Given the description of an element on the screen output the (x, y) to click on. 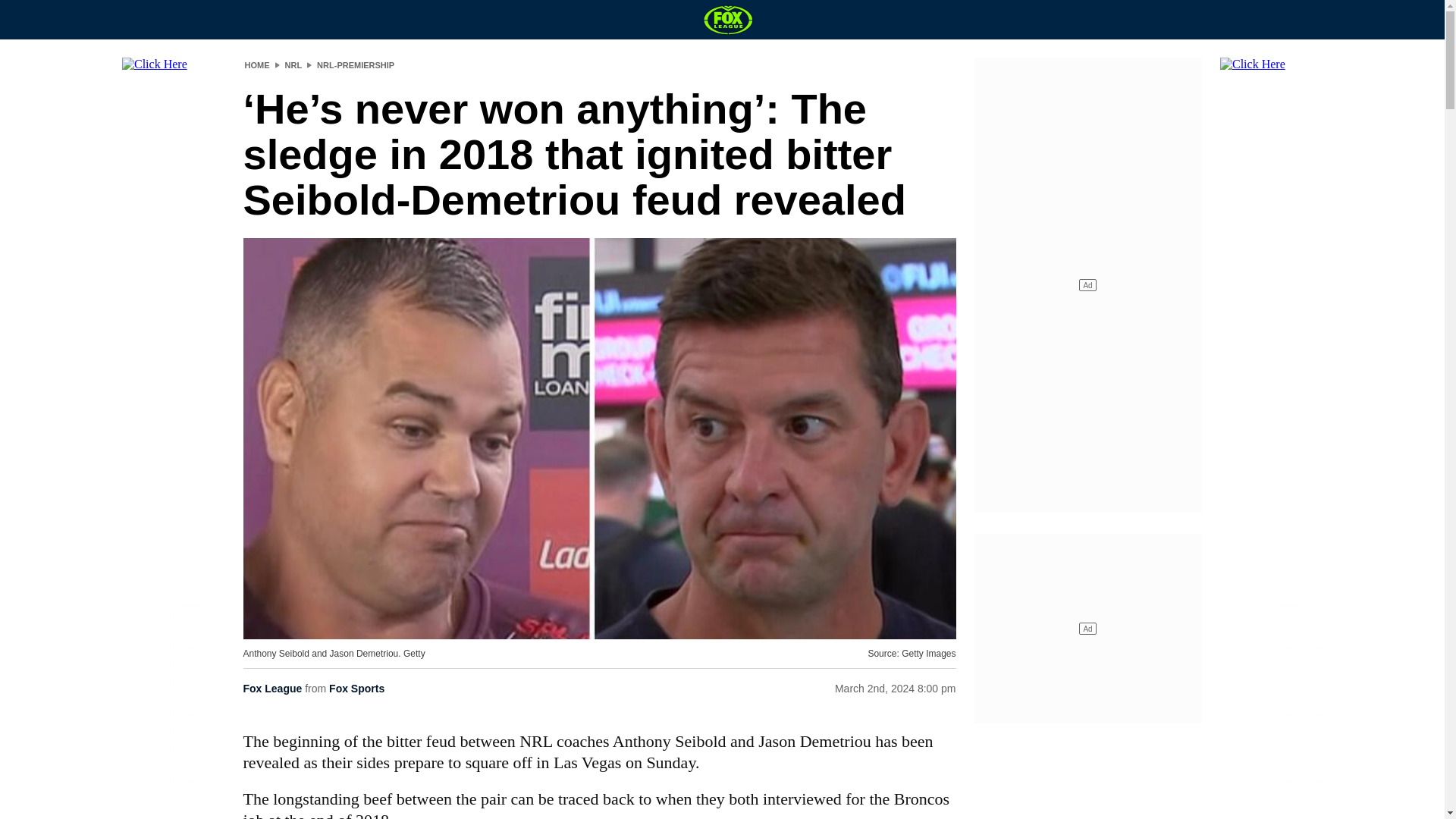
HOME (256, 64)
NRL-PREMIERSHIP (355, 64)
NRL (293, 64)
